Given the description of an element on the screen output the (x, y) to click on. 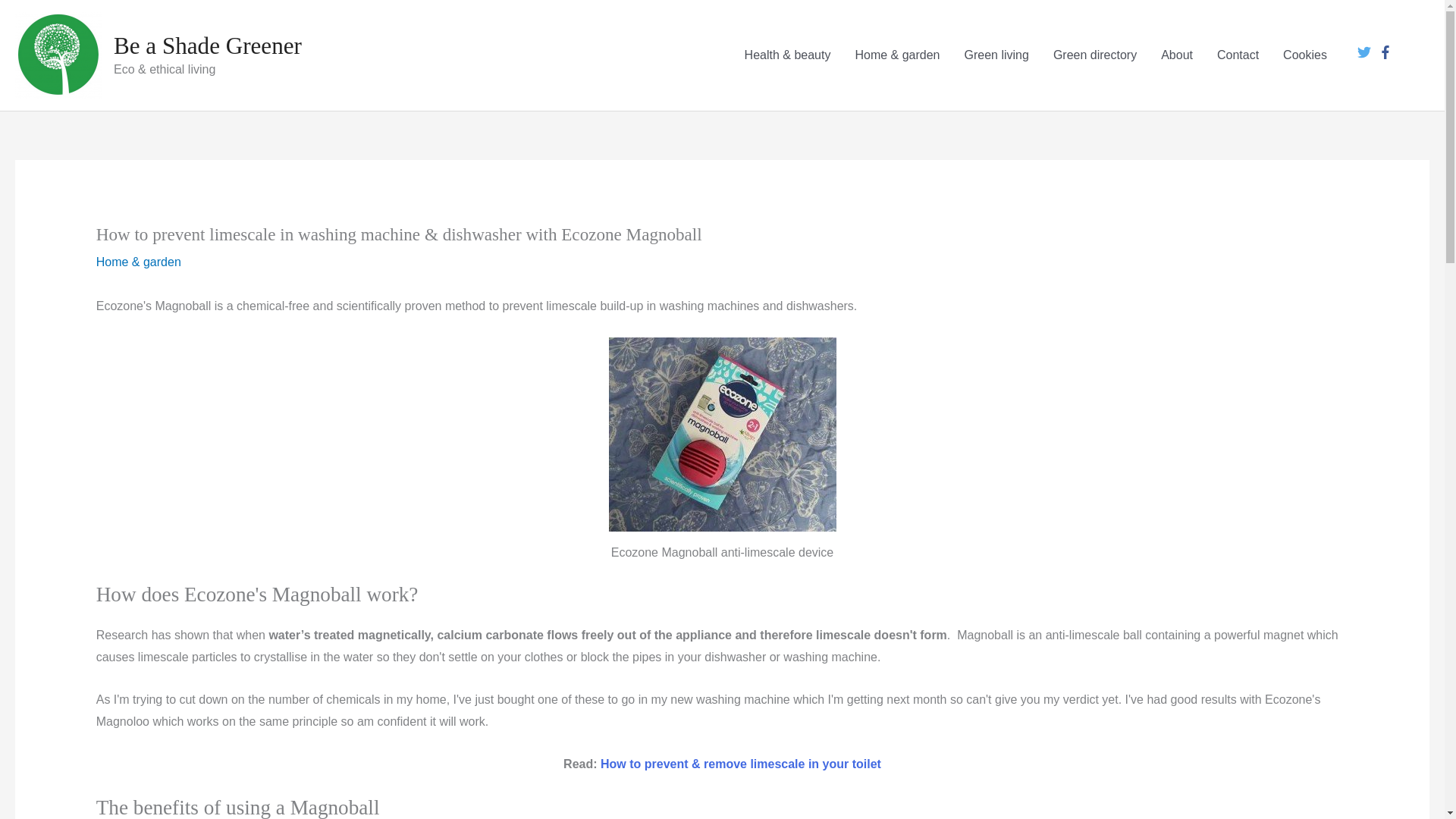
Be a Shade Greener (207, 45)
Green directory (1094, 55)
